Given the description of an element on the screen output the (x, y) to click on. 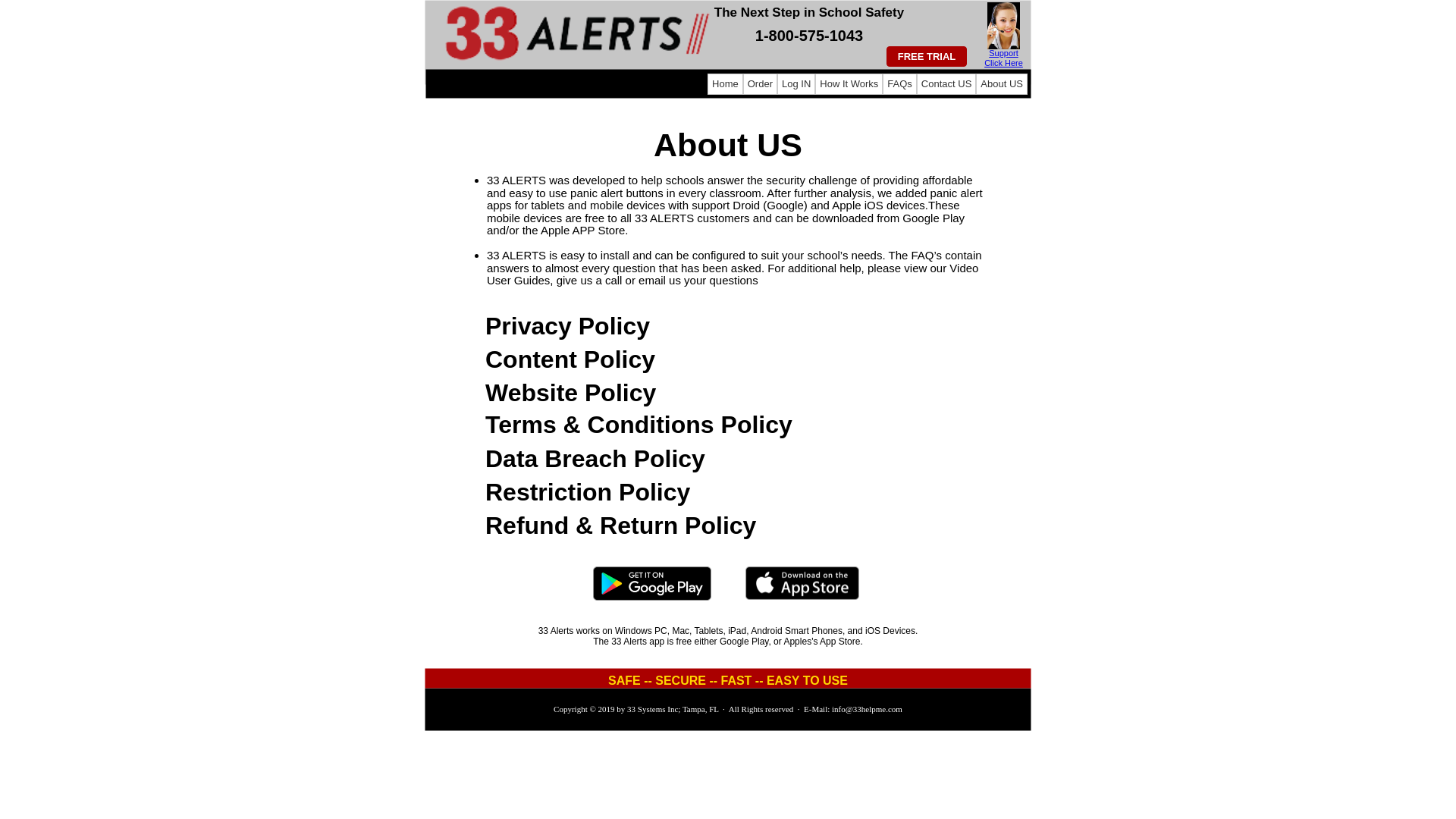
Order Element type: text (760, 83)
Data Breach Policy Element type: text (595, 458)
Content Policy Element type: text (570, 359)
Home Element type: text (725, 83)
How It Works Element type: text (848, 83)
Website Policy Element type: text (570, 392)
Terms & Conditions Policy Element type: text (638, 424)
FAQs Element type: text (899, 83)
Refund & Return Policy Element type: text (620, 525)
Support
Click Here Element type: text (1003, 57)
Log IN Element type: text (796, 83)
FREE TRIAL Element type: text (926, 56)
33 HelpME Apple App Store Download Link Element type: hover (802, 596)
Contact US Element type: text (945, 83)
Restriction Policy Element type: text (587, 491)
Privacy Policy Element type: text (567, 325)
33 HelpME Google Play App Download Link Element type: hover (652, 596)
About US Element type: text (1001, 83)
